Given the description of an element on the screen output the (x, y) to click on. 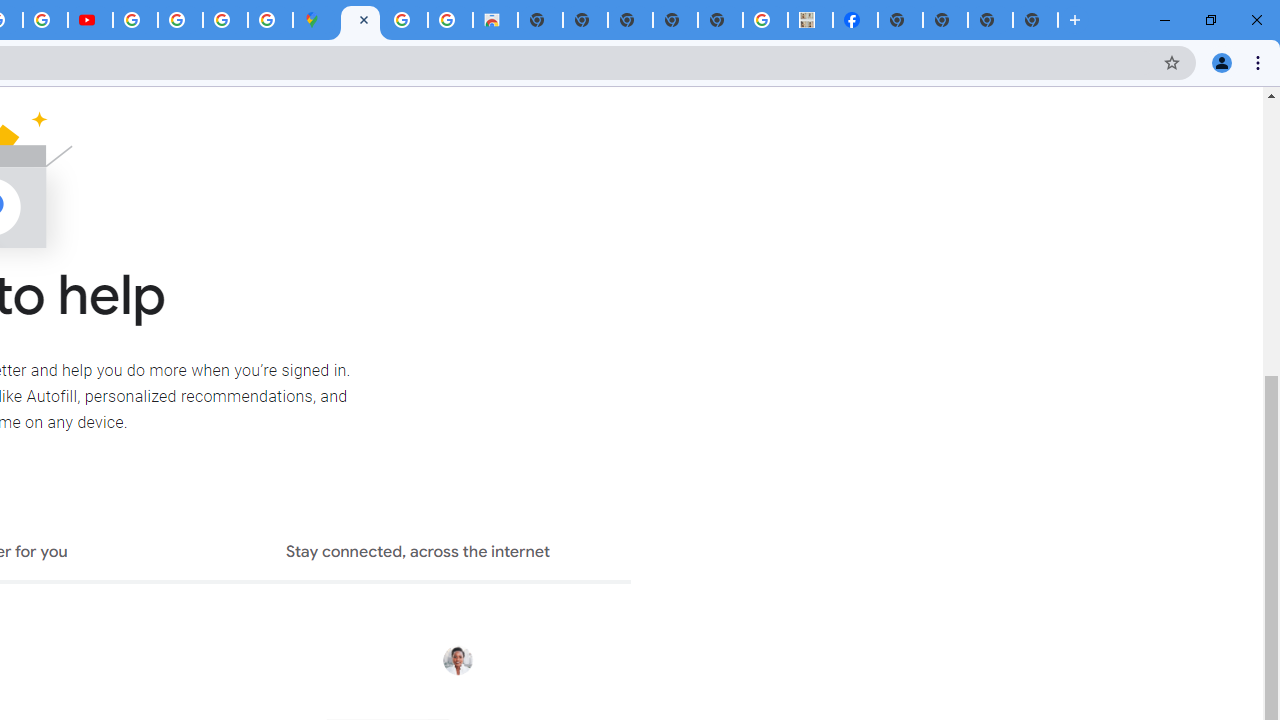
MILEY CYRUS. (810, 20)
New Tab (900, 20)
